Given the description of an element on the screen output the (x, y) to click on. 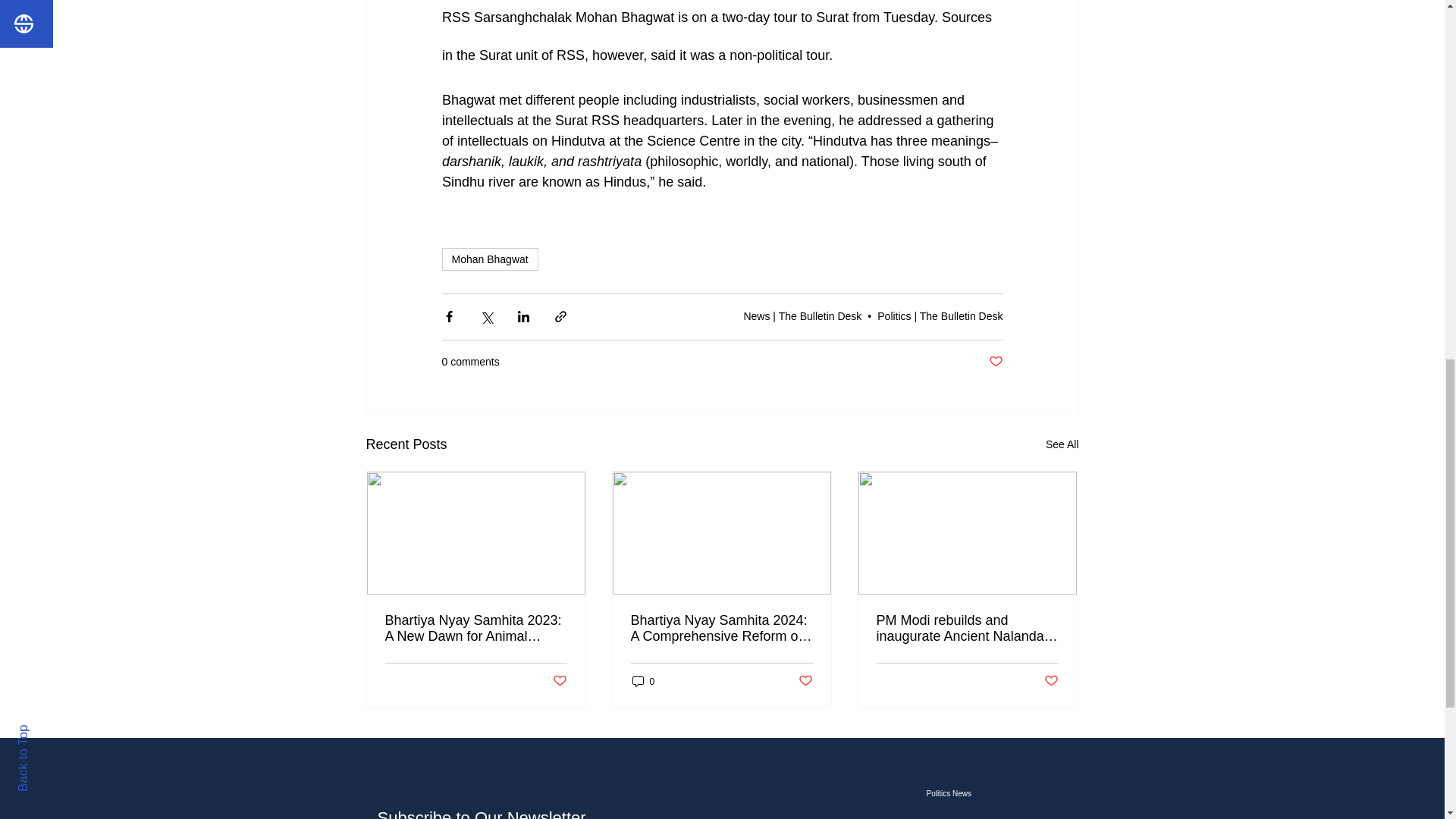
Post not marked as liked (558, 681)
Mohan Bhagwat (489, 259)
Post not marked as liked (995, 361)
See All (1061, 444)
